Given the description of an element on the screen output the (x, y) to click on. 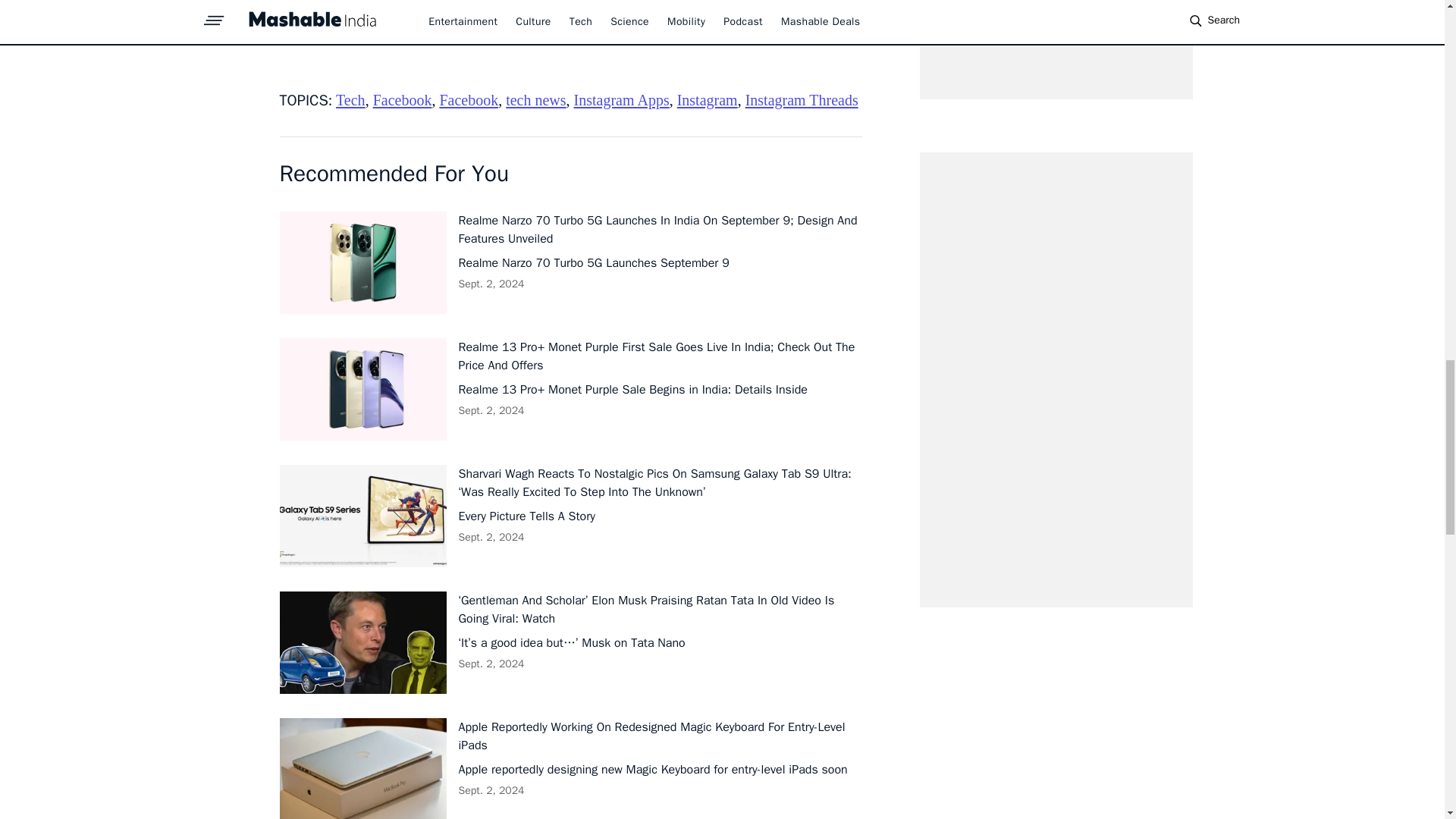
Instagram Threads (802, 99)
tech news (535, 99)
Instagram Apps (621, 99)
Facebook (402, 99)
Facebook (468, 99)
Tech (350, 99)
Instagram (707, 99)
